Given the description of an element on the screen output the (x, y) to click on. 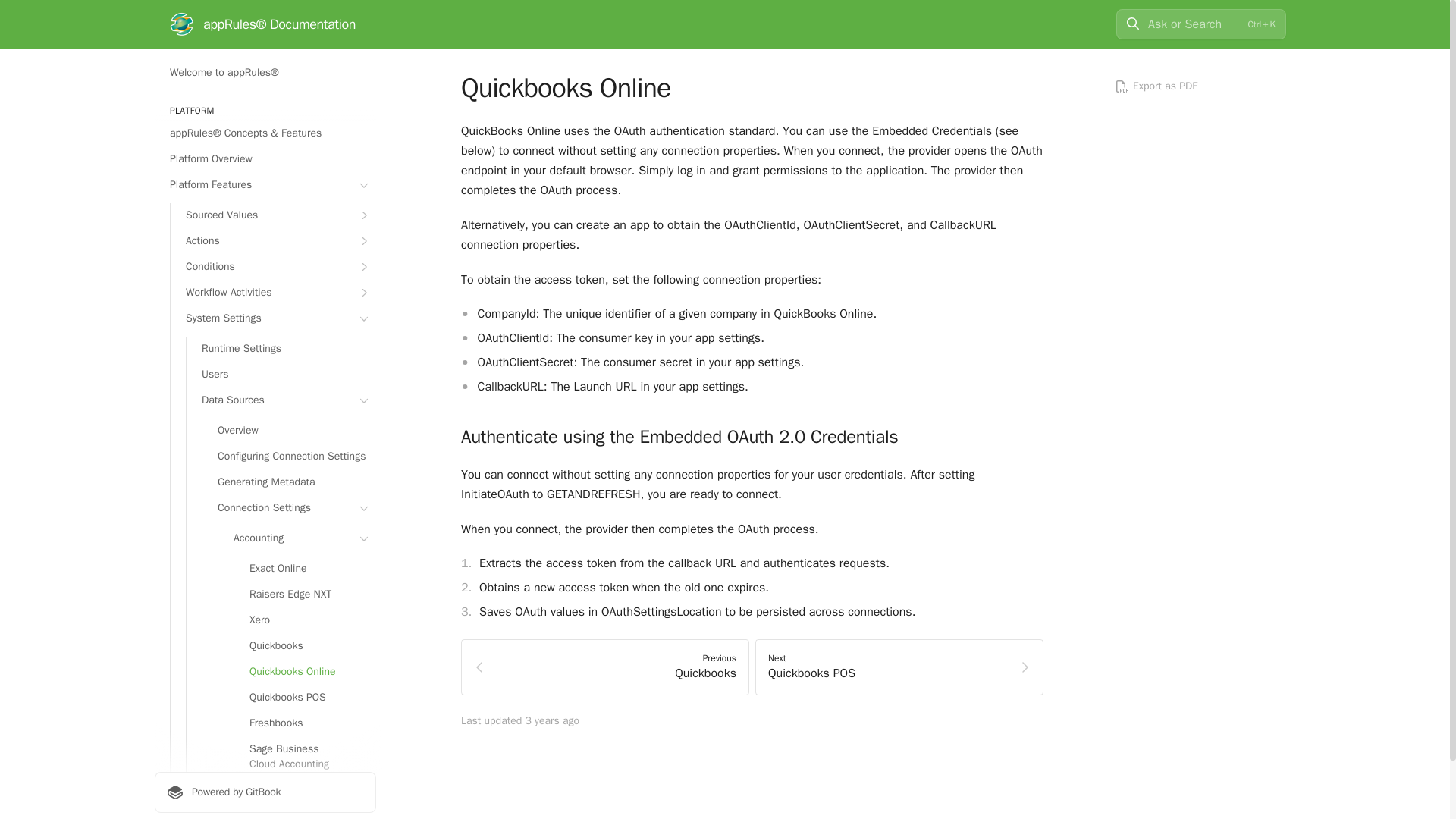
Sourced Values (272, 215)
Actions (272, 241)
Platform Features (264, 184)
Platform Overview (264, 159)
